Given the description of an element on the screen output the (x, y) to click on. 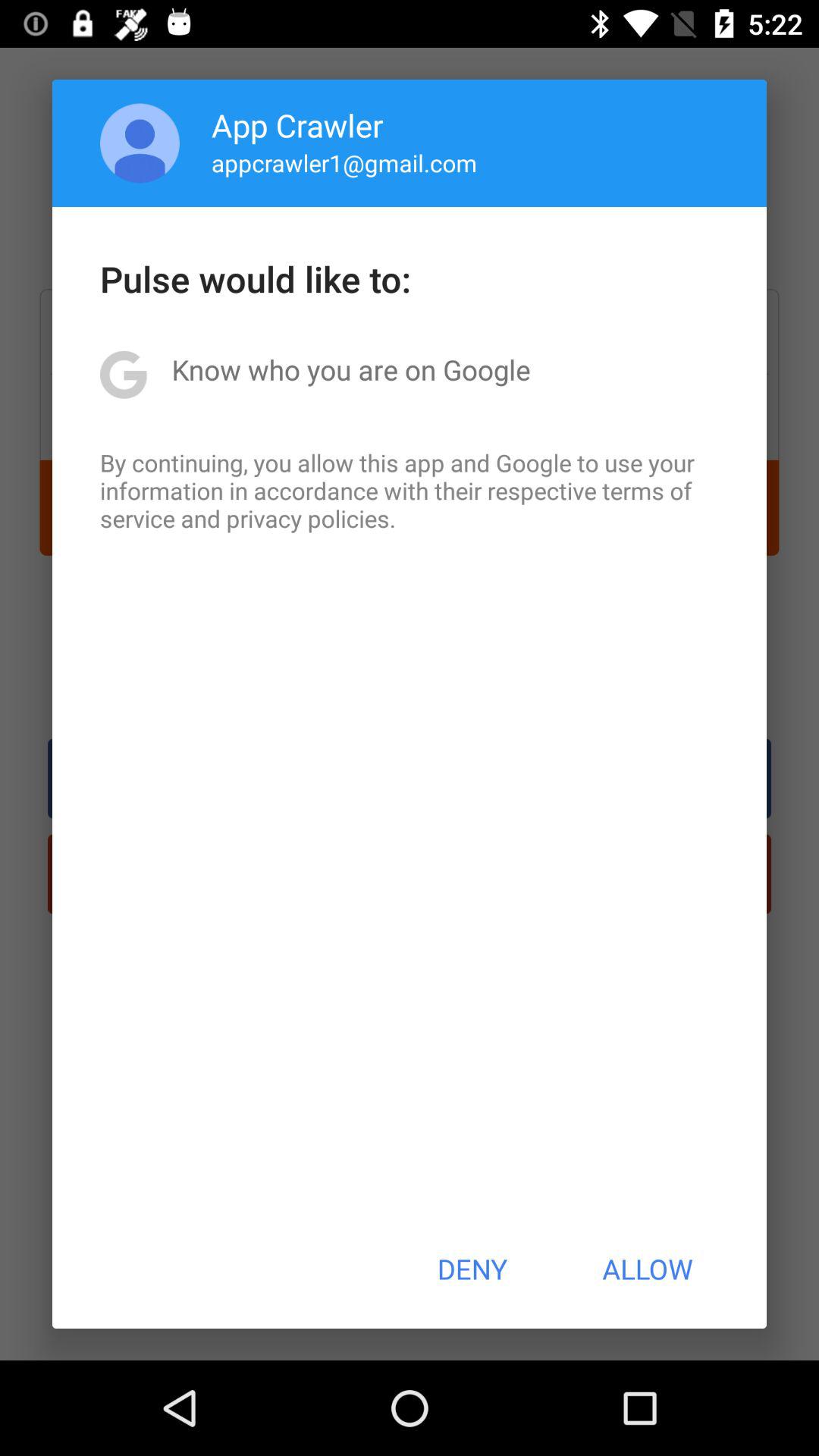
select the item to the left of allow button (471, 1268)
